Given the description of an element on the screen output the (x, y) to click on. 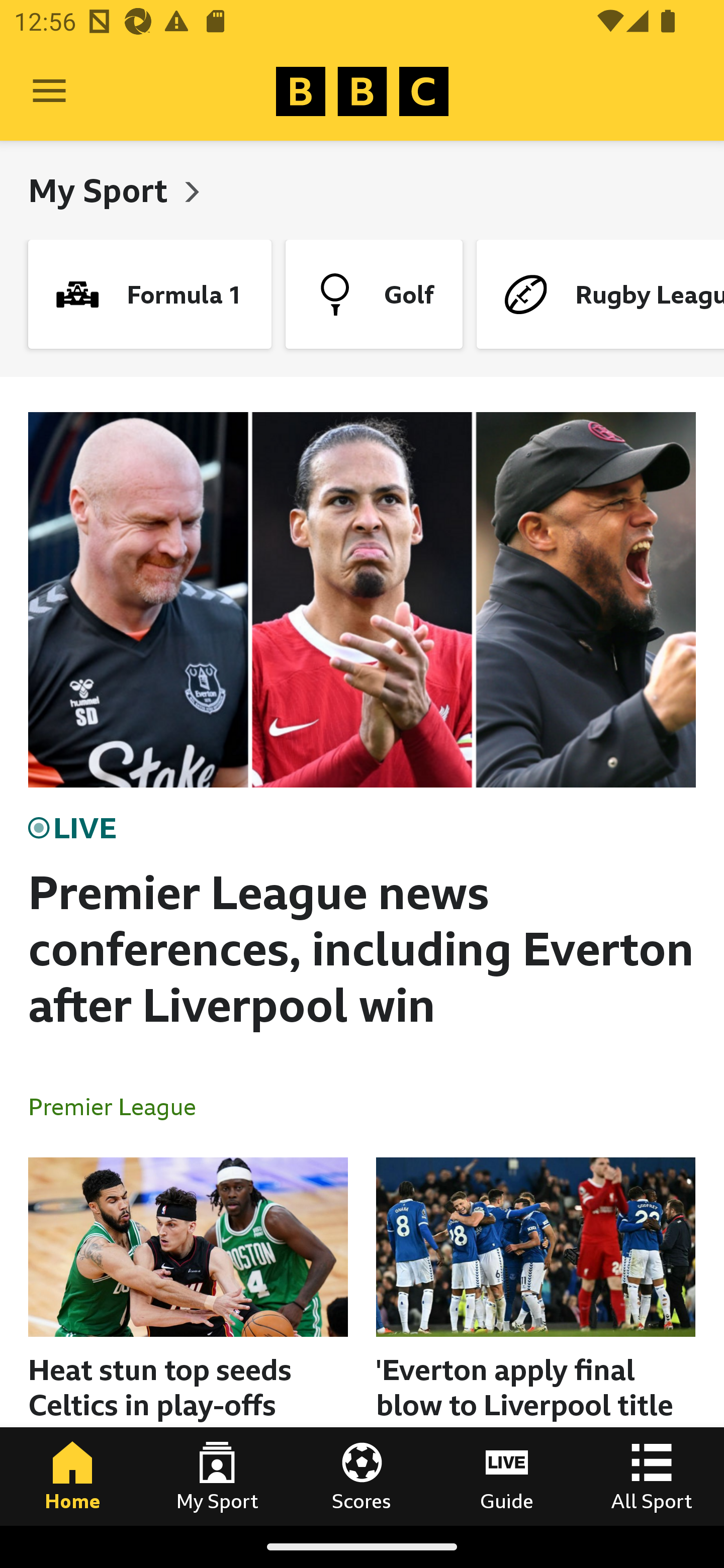
Open Menu (49, 91)
My Sport (101, 190)
Premier League In the section Premier League (119, 1106)
My Sport (216, 1475)
Scores (361, 1475)
Guide (506, 1475)
All Sport (651, 1475)
